Given the description of an element on the screen output the (x, y) to click on. 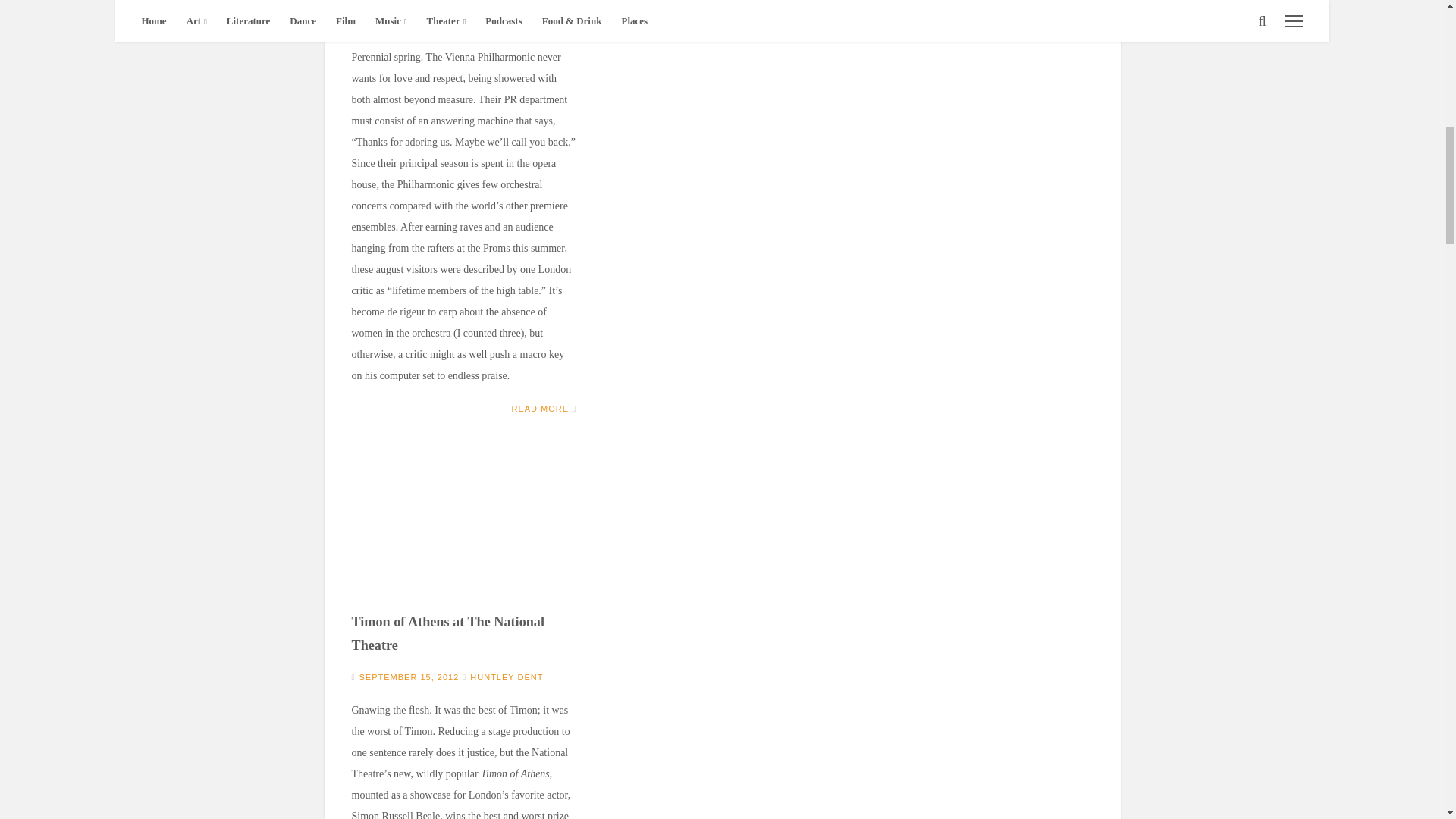
Timon of Athens at The National Theatre (448, 633)
HUNTLEY DENT (506, 24)
READ MORE (540, 408)
Timon of Athens at The National Theatre (464, 529)
HUNTLEY DENT (506, 676)
